Given the description of an element on the screen output the (x, y) to click on. 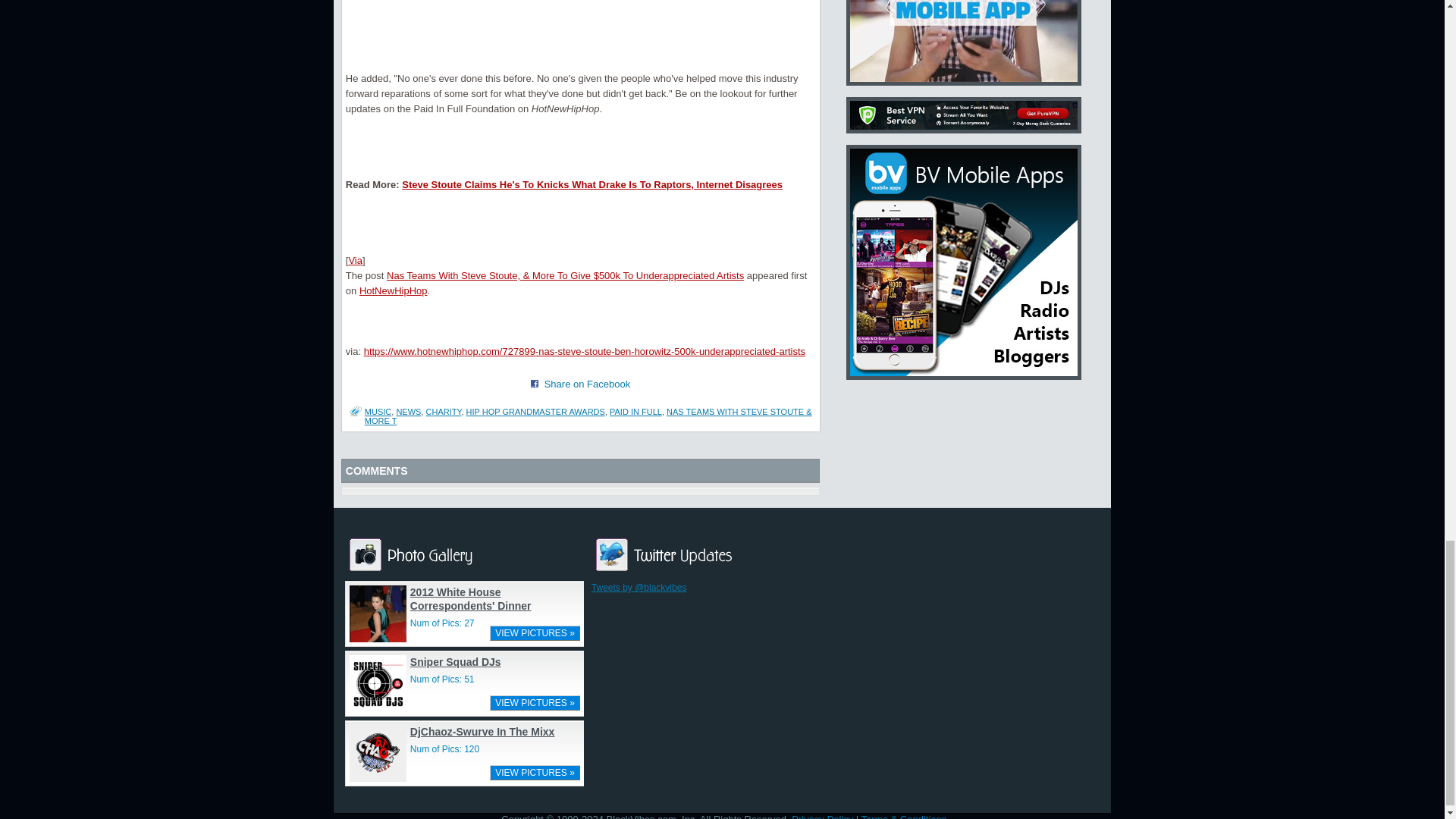
Share on Facebook (534, 383)
Via (354, 260)
MUSIC (378, 411)
charity (443, 411)
PAID IN FULL (636, 411)
Hip Hop Grandmaster Awards (535, 411)
HIP HOP GRANDMASTER AWARDS (535, 411)
Paid in Full (636, 411)
CHARITY (443, 411)
News (408, 411)
Share on Facebook (587, 383)
NEWS (408, 411)
HotNewHipHop (393, 290)
Music (378, 411)
